Given the description of an element on the screen output the (x, y) to click on. 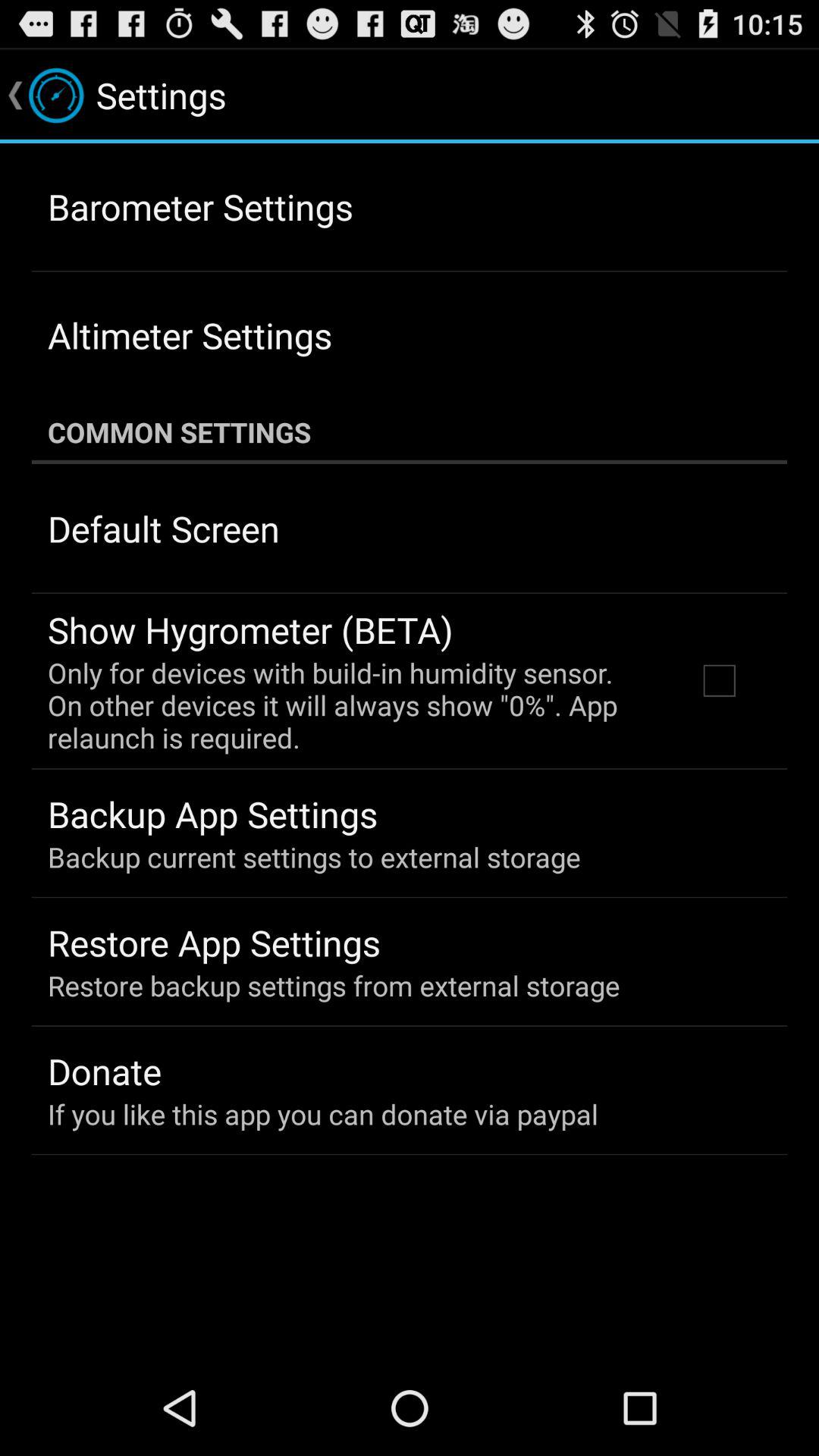
flip until the if you like icon (322, 1113)
